Given the description of an element on the screen output the (x, y) to click on. 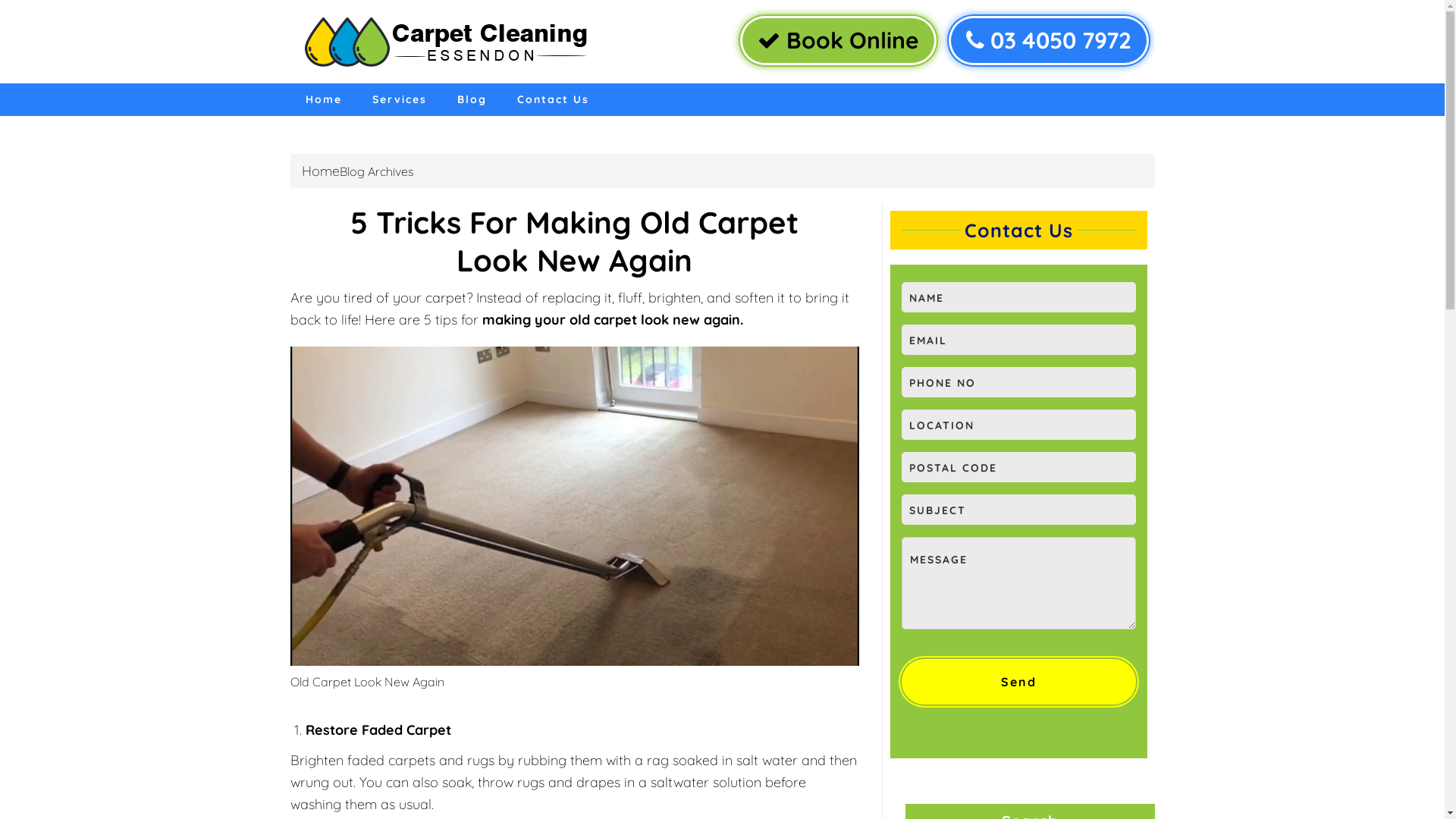
Home Element type: text (320, 170)
Send Element type: text (1017, 681)
Services Element type: text (398, 99)
Home Element type: text (322, 99)
Contact Us Element type: text (553, 99)
03 4050 7972 Element type: text (1047, 40)
Book Online Element type: text (838, 40)
Blog Element type: text (471, 99)
